Given the description of an element on the screen output the (x, y) to click on. 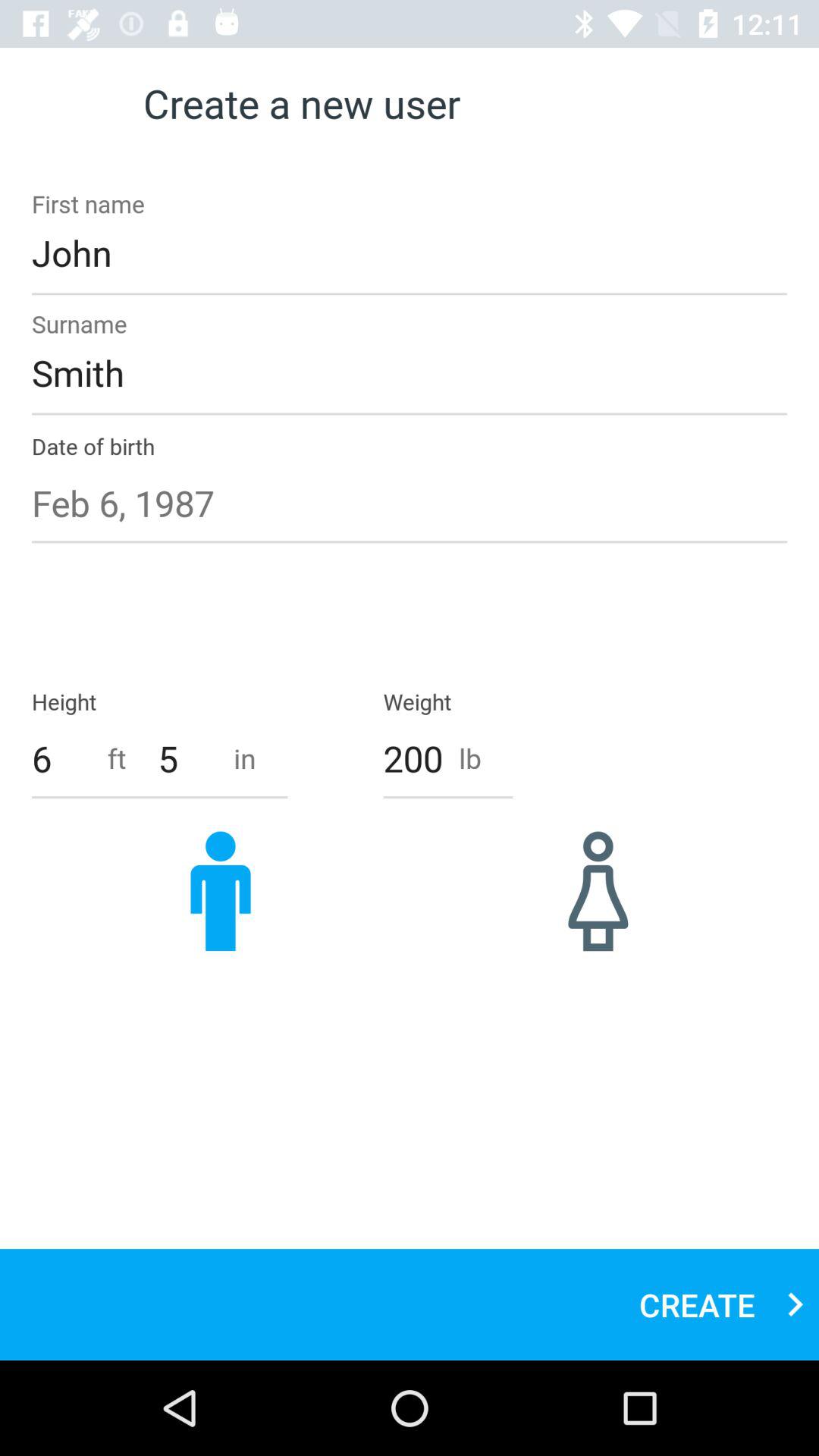
press john icon (409, 252)
